Given the description of an element on the screen output the (x, y) to click on. 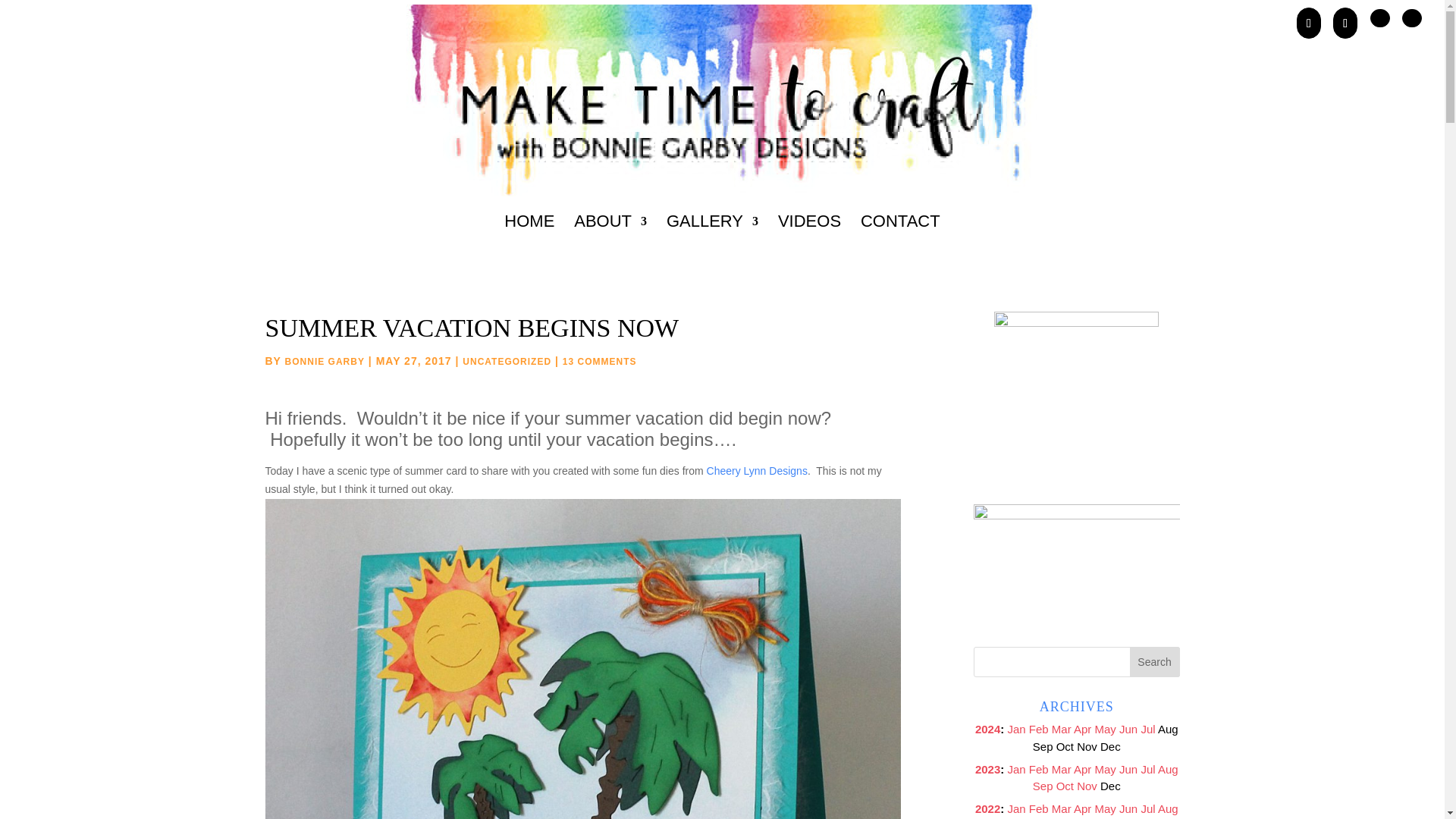
April 2001 (1082, 728)
13 COMMENTS (599, 361)
May 2001 (1105, 728)
CONTACT (900, 240)
UNCATEGORIZED (507, 361)
July 2001 (1147, 728)
Cheery Lynn Designs (757, 470)
January 2001 (1016, 768)
Posts by Bonnie Garby (325, 361)
Search (1154, 662)
HOME (528, 240)
VIDEOS (809, 240)
ABOUT (609, 240)
June 2001 (1128, 728)
January 2001 (1016, 728)
